Given the description of an element on the screen output the (x, y) to click on. 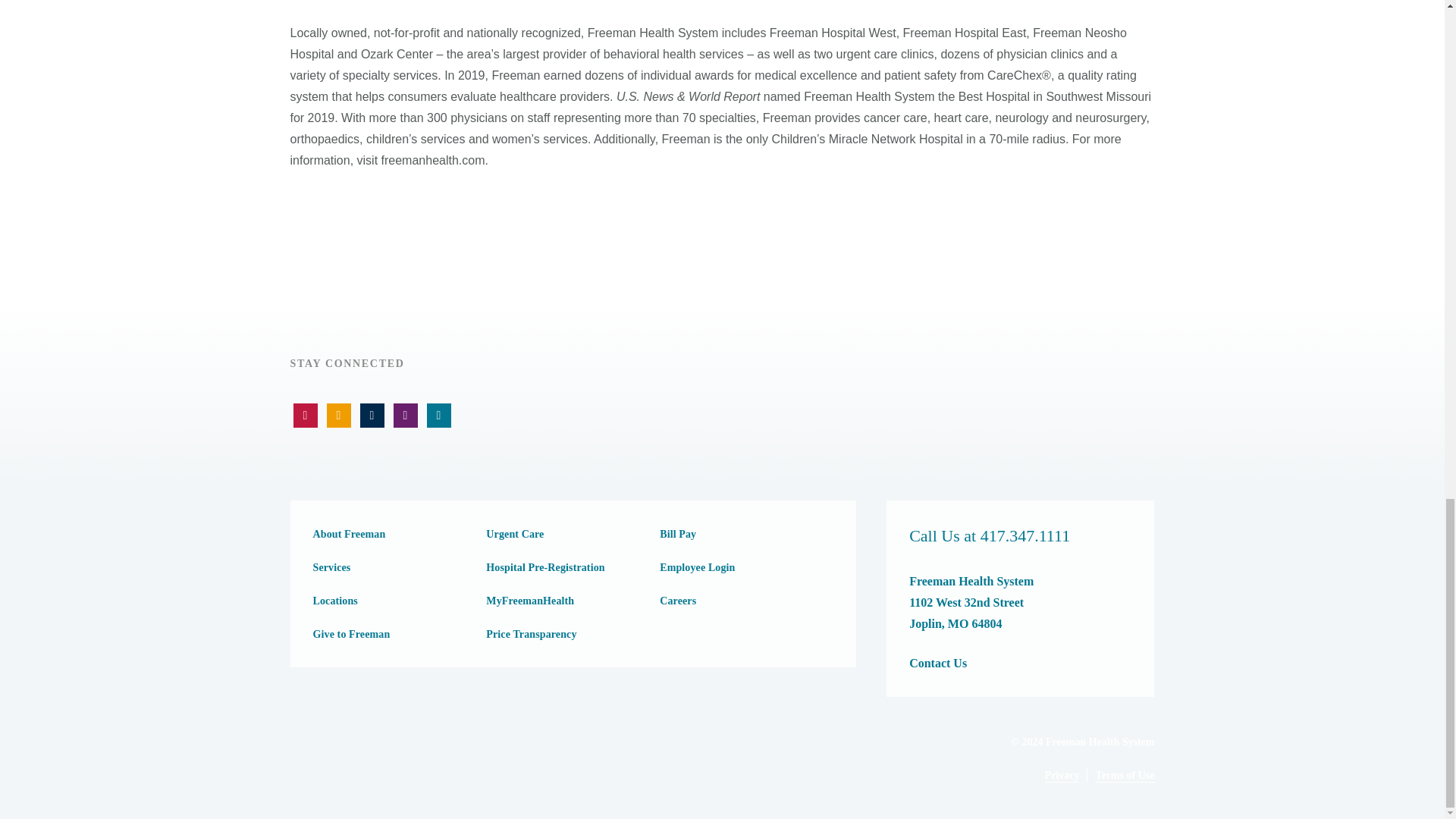
Youtube (304, 415)
Terms of Use (1124, 775)
Facebook (371, 415)
Instagram (437, 415)
Twitter (338, 415)
Privacy (1062, 775)
Instagram (404, 415)
